Given the description of an element on the screen output the (x, y) to click on. 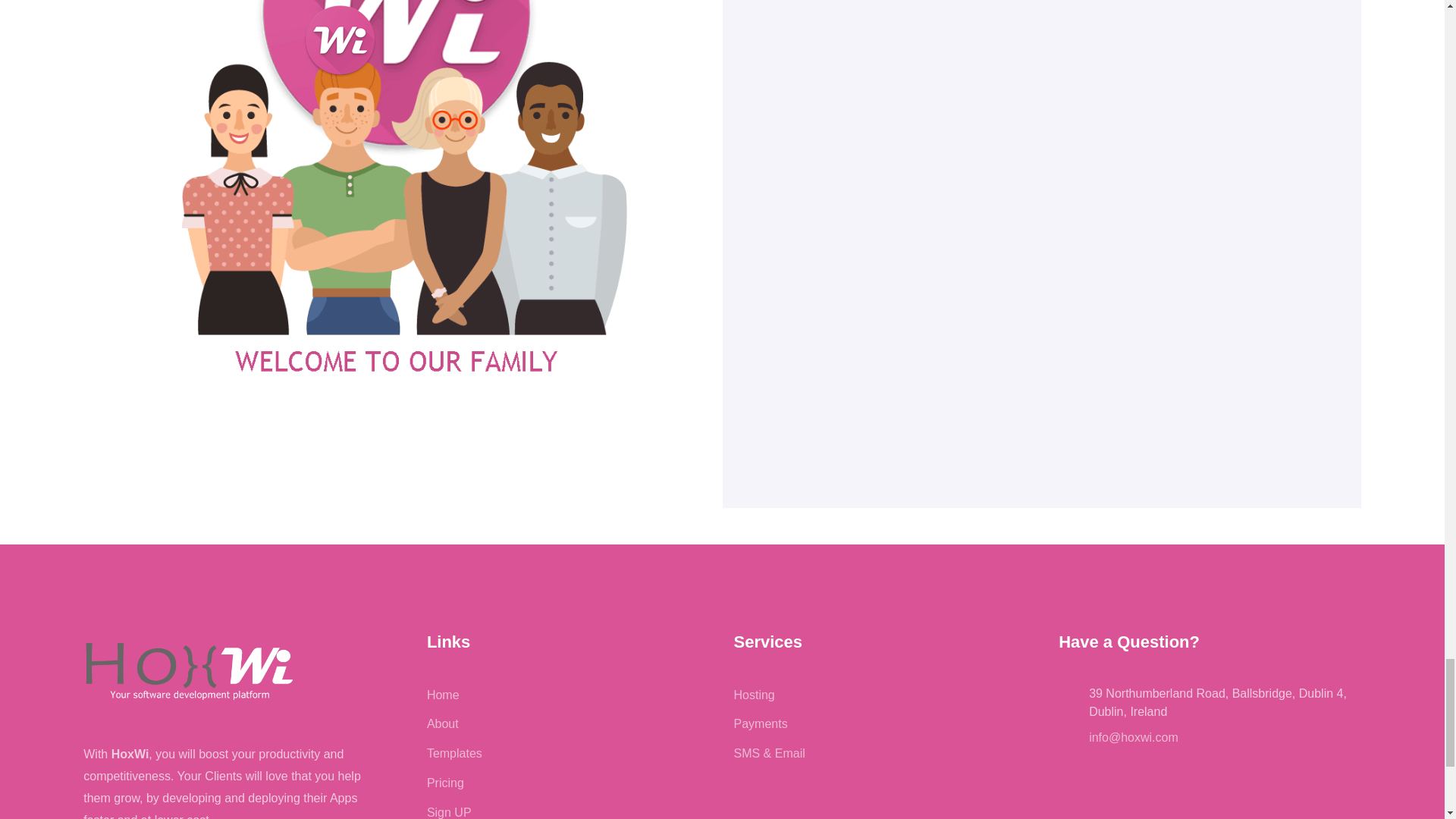
Payments (760, 723)
Home (443, 694)
Templates (453, 753)
About (442, 723)
Hosting (753, 694)
Pricing (445, 782)
Sign UP (448, 812)
